Given the description of an element on the screen output the (x, y) to click on. 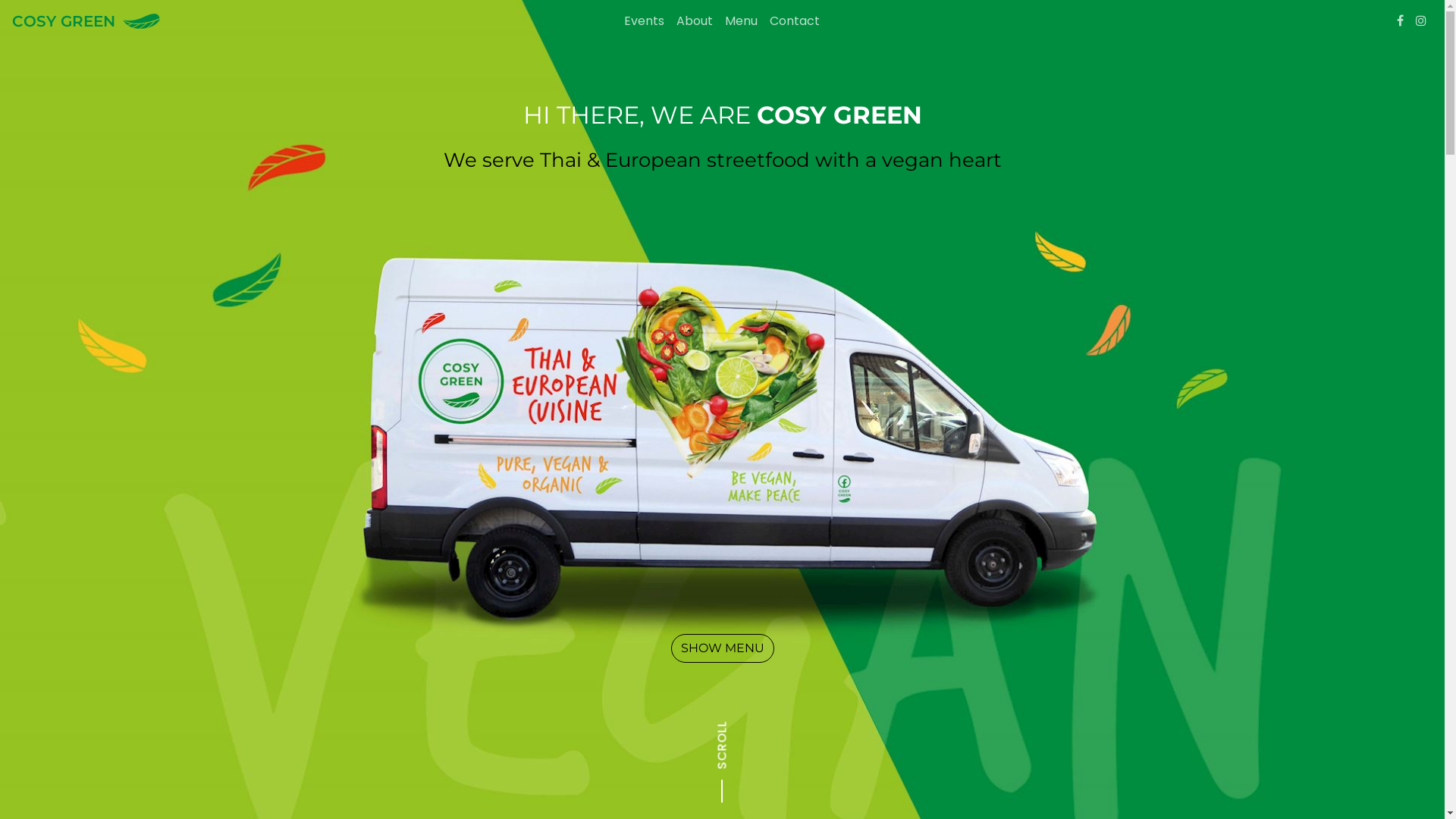
sven-t Element type: text (428, 792)
Facebook Element type: hover (1399, 21)
Menu Element type: text (740, 21)
Home Element type: text (636, 627)
Events Element type: text (637, 644)
Instagram Element type: hover (1420, 21)
Events Element type: text (644, 21)
+32 (0)487/55 90 05 Element type: text (371, 644)
info@cosygreen.be Element type: text (371, 659)
Facebook Element type: hover (320, 715)
Contact Element type: text (642, 691)
Contact Element type: text (794, 21)
About Element type: text (636, 659)
COSY GREEN Element type: text (248, 21)
a.leen Element type: text (471, 792)
SHOW MENU Element type: text (721, 647)
Menu Element type: text (634, 676)
About Element type: text (694, 21)
Instagram Element type: hover (364, 715)
